Given the description of an element on the screen output the (x, y) to click on. 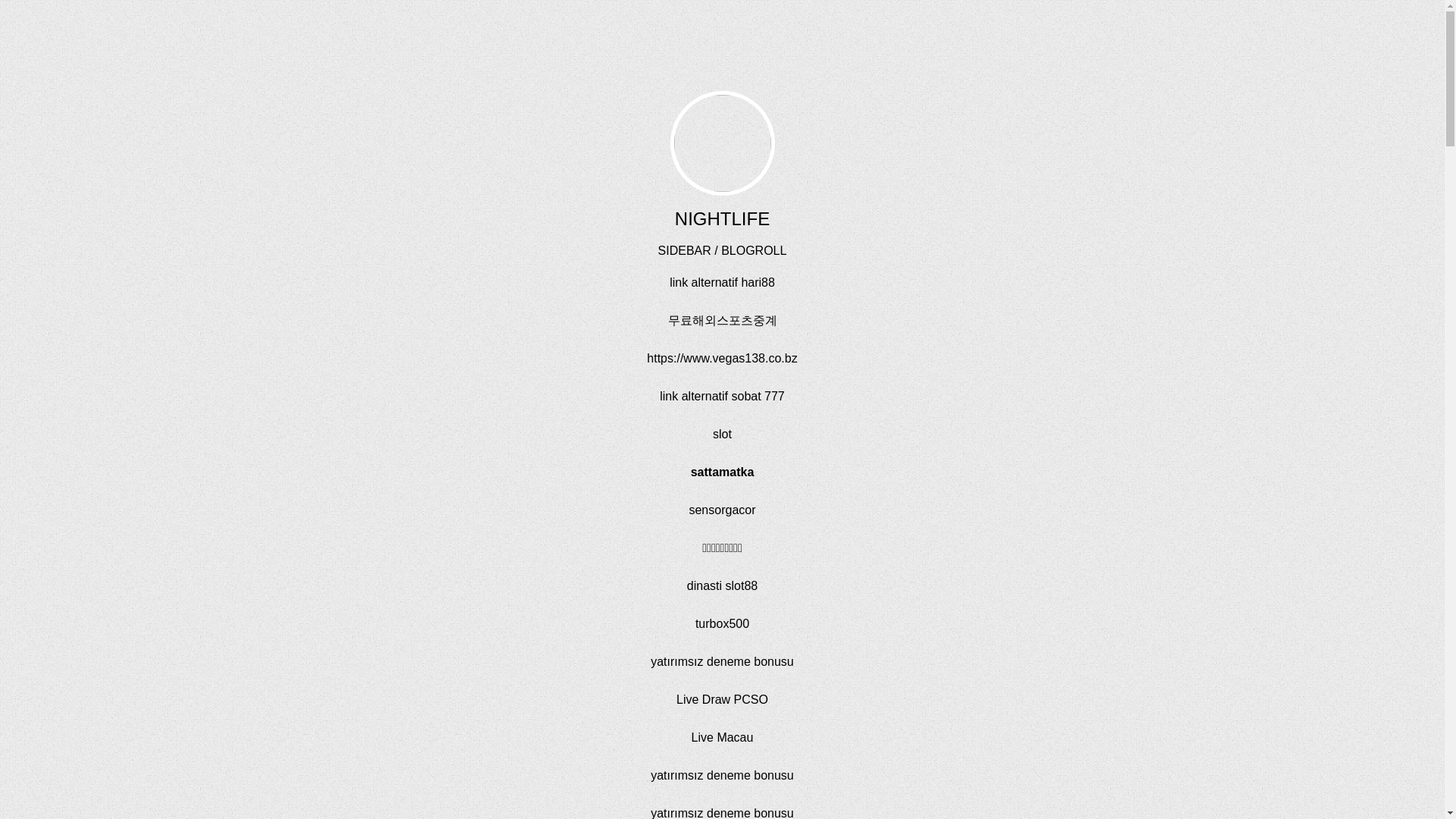
dinasti slot88 (722, 585)
turbox500 (722, 623)
Live Macau (722, 737)
NIGHTLIFE (722, 218)
slot (722, 433)
sensorgacor (721, 509)
link alternatif sobat 777 (721, 395)
sattamatka (722, 472)
Live Draw PCSO (722, 698)
link alternatif hari88 (721, 282)
